Given the description of an element on the screen output the (x, y) to click on. 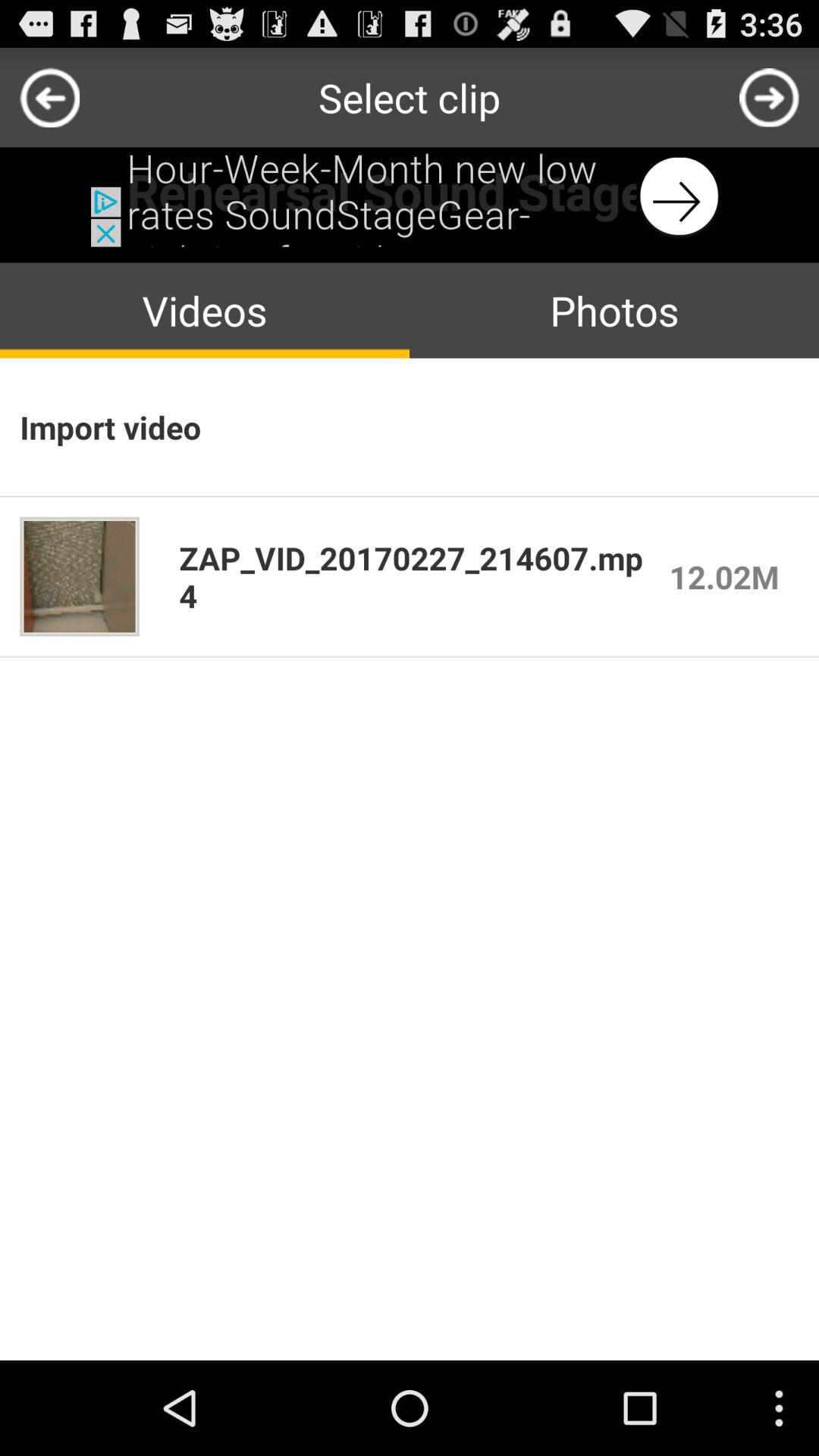
go to advertisement (409, 196)
